Given the description of an element on the screen output the (x, y) to click on. 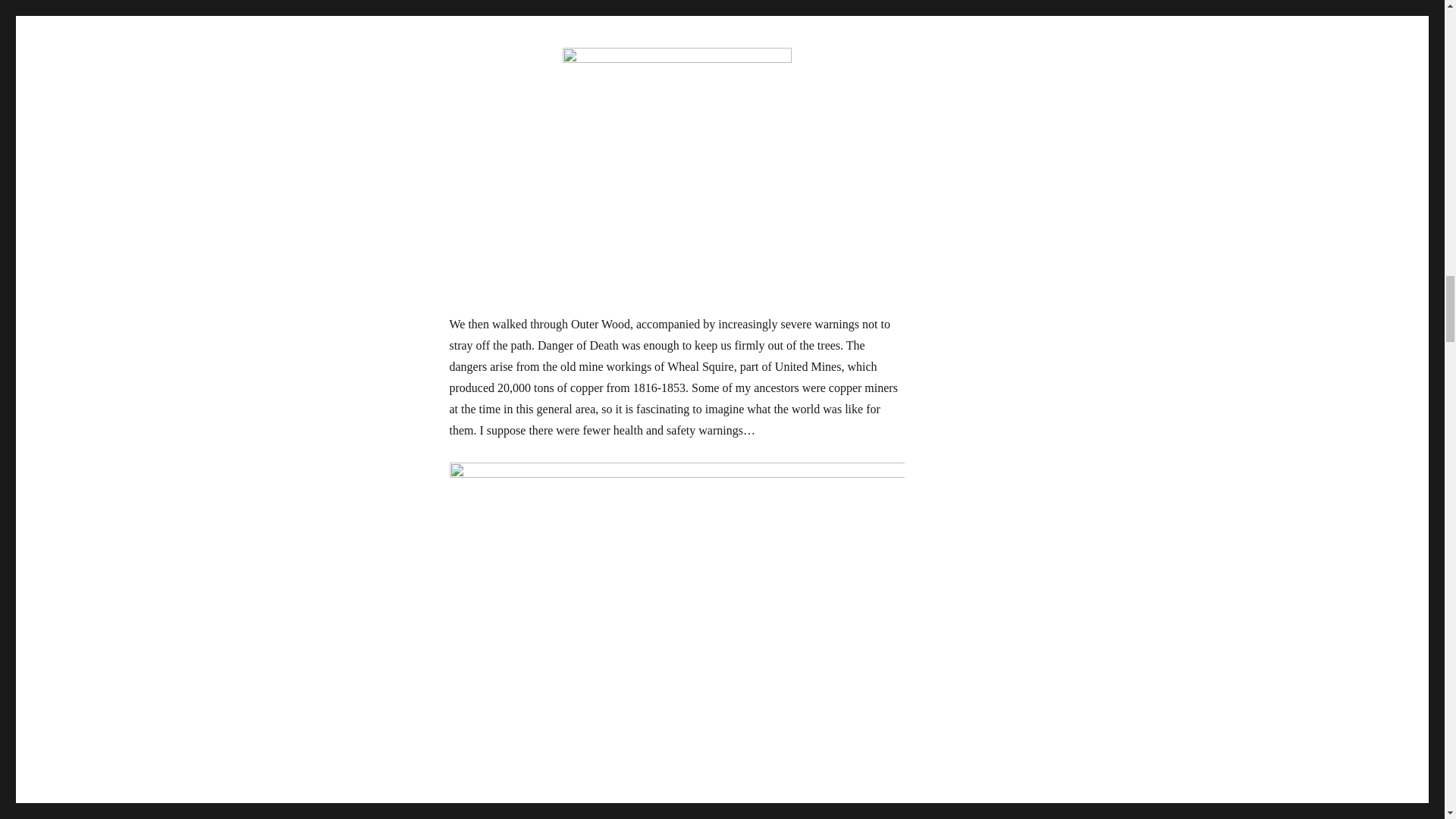
Outer Wood (676, 18)
